Given the description of an element on the screen output the (x, y) to click on. 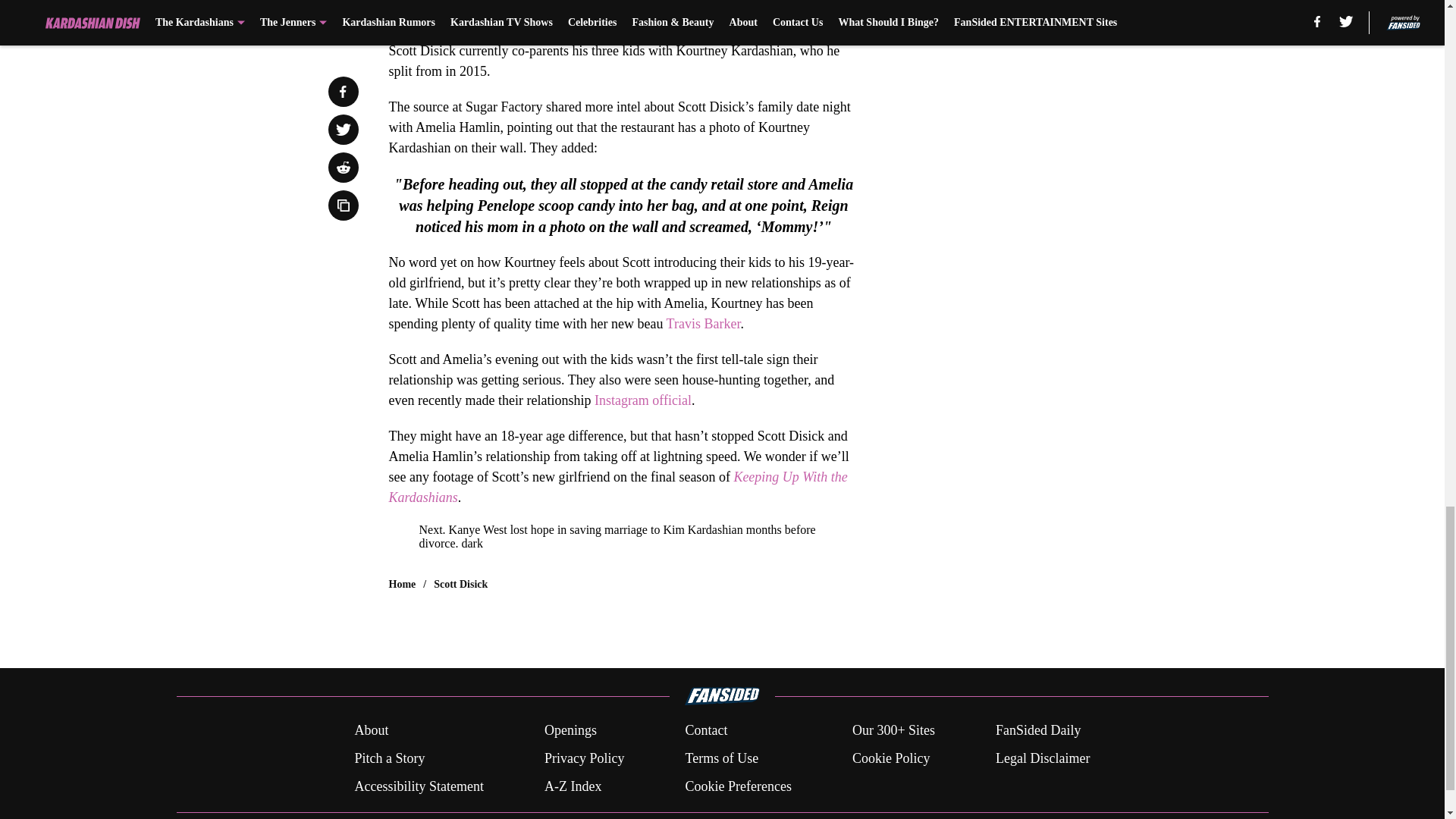
FanSided Daily (1038, 730)
Contact (705, 730)
Keeping Up With the Kardashians (617, 487)
Home (401, 584)
Openings (570, 730)
Instagram official (642, 400)
Travis Barker (703, 323)
About (370, 730)
Scott Disick (460, 584)
Pitch a Story (389, 758)
